Given the description of an element on the screen output the (x, y) to click on. 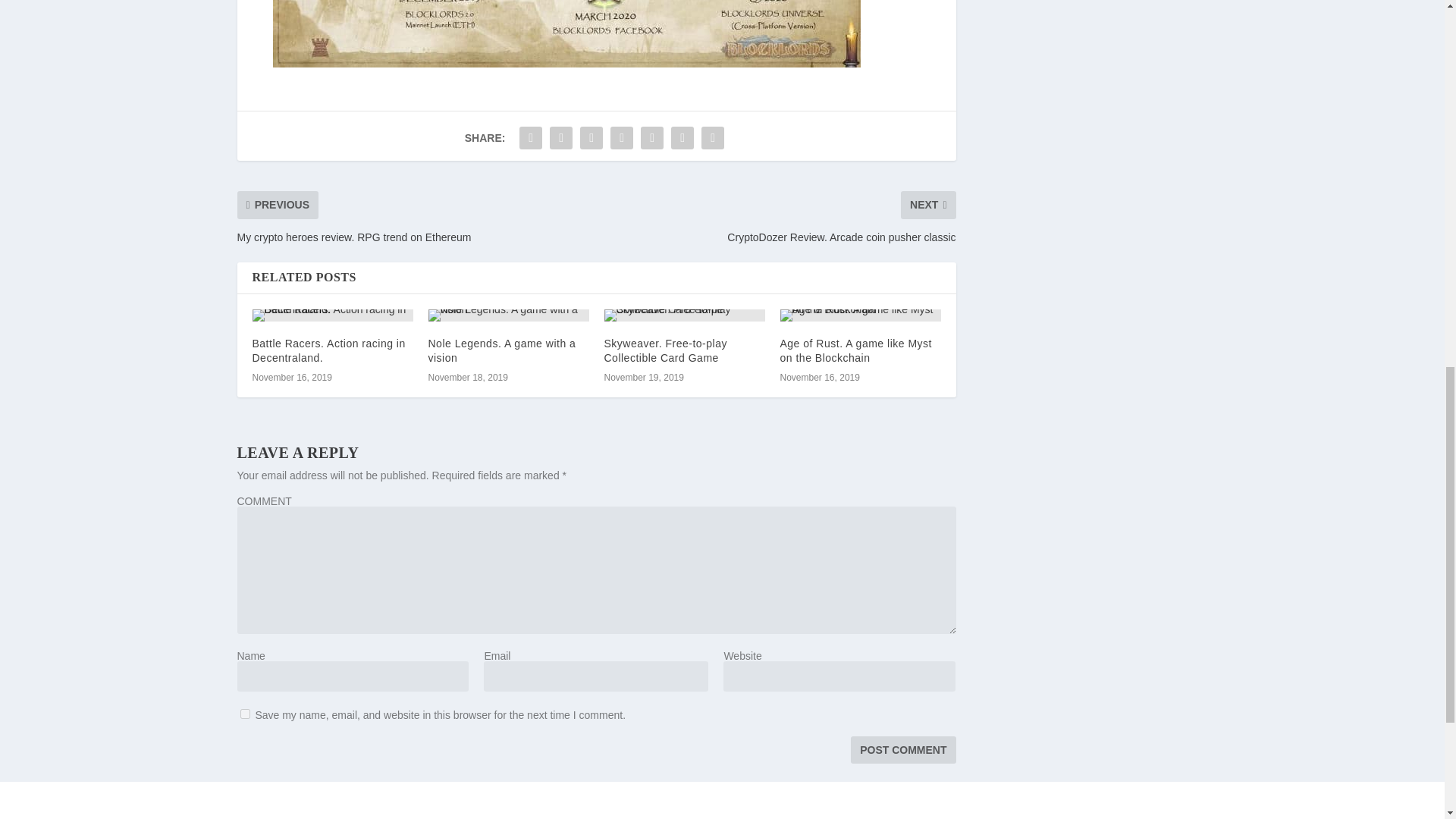
Battle Racers. Action racing in Decentraland. (327, 350)
Nole Legends. A game with a vision (508, 315)
Battle Racers. Action racing in Decentraland. (331, 315)
yes (244, 714)
Age of Rust. A game like Myst on the Blockchain (859, 315)
Post Comment (902, 749)
Age of Rust. A game like Myst on the Blockchain (854, 350)
Nole Legends. A game with a vision (501, 350)
Skyweaver. Free-to-play Collectible Card Game (684, 315)
Skyweaver. Free-to-play Collectible Card Game (665, 350)
